Given the description of an element on the screen output the (x, y) to click on. 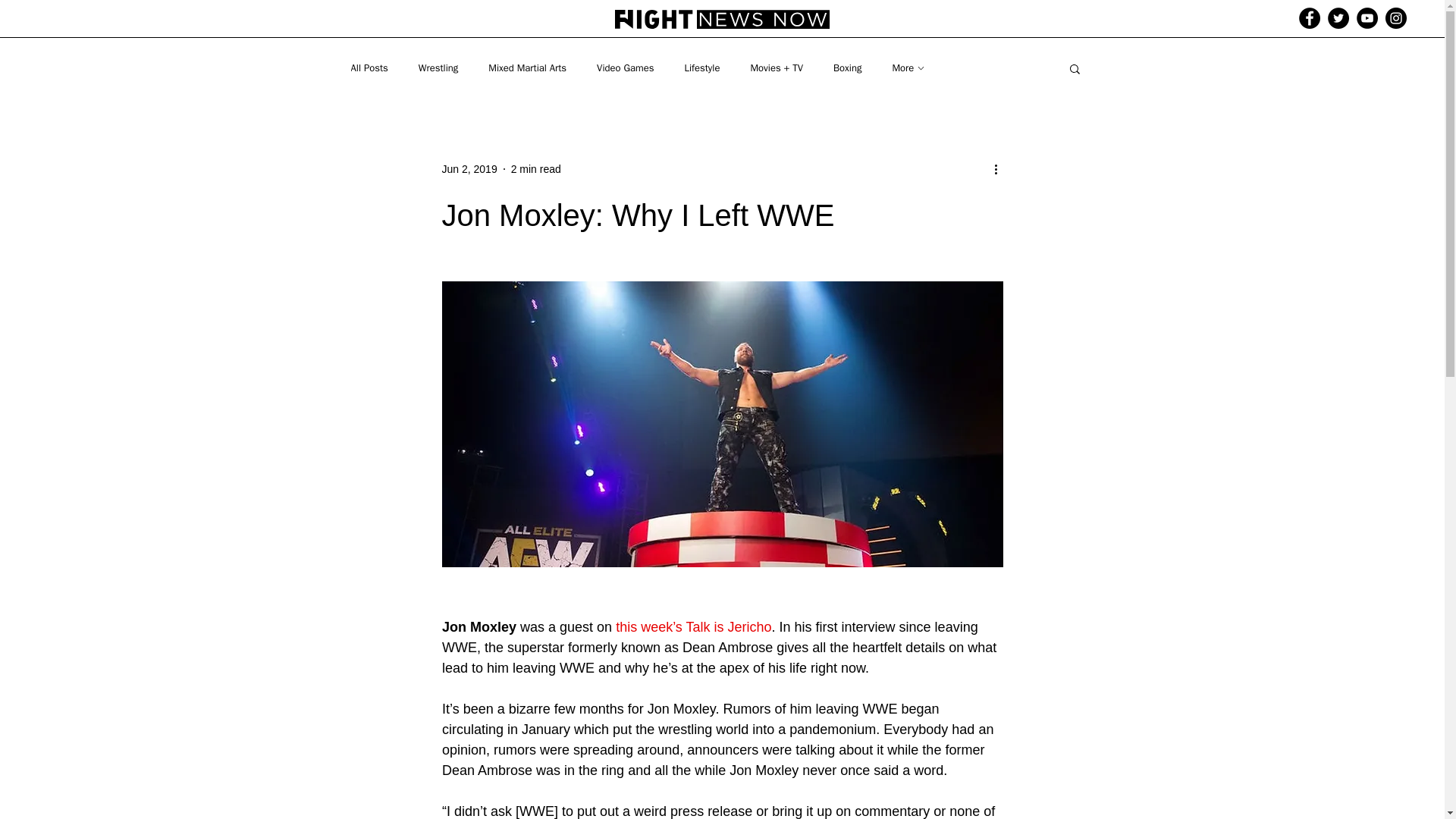
2 min read (535, 168)
Boxing (846, 68)
All Posts (368, 68)
Wrestling (438, 68)
Lifestyle (701, 68)
Video Games (624, 68)
Mixed Martial Arts (526, 68)
Jun 2, 2019 (468, 168)
